Given the description of an element on the screen output the (x, y) to click on. 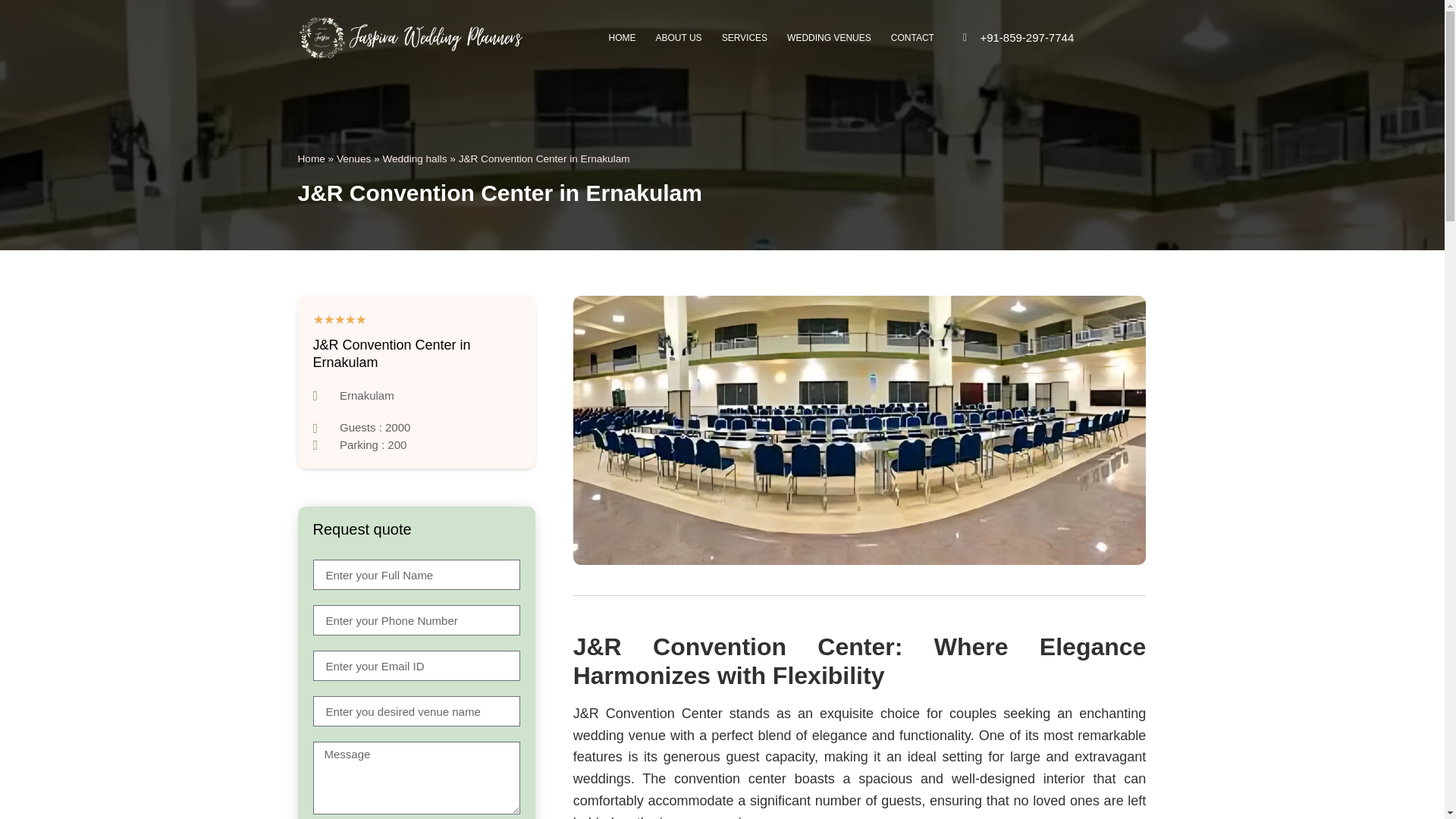
ABOUT US (678, 37)
WEDDING VENUES (828, 37)
SERVICES (744, 37)
CONTACT (911, 37)
HOME (622, 37)
